Given the description of an element on the screen output the (x, y) to click on. 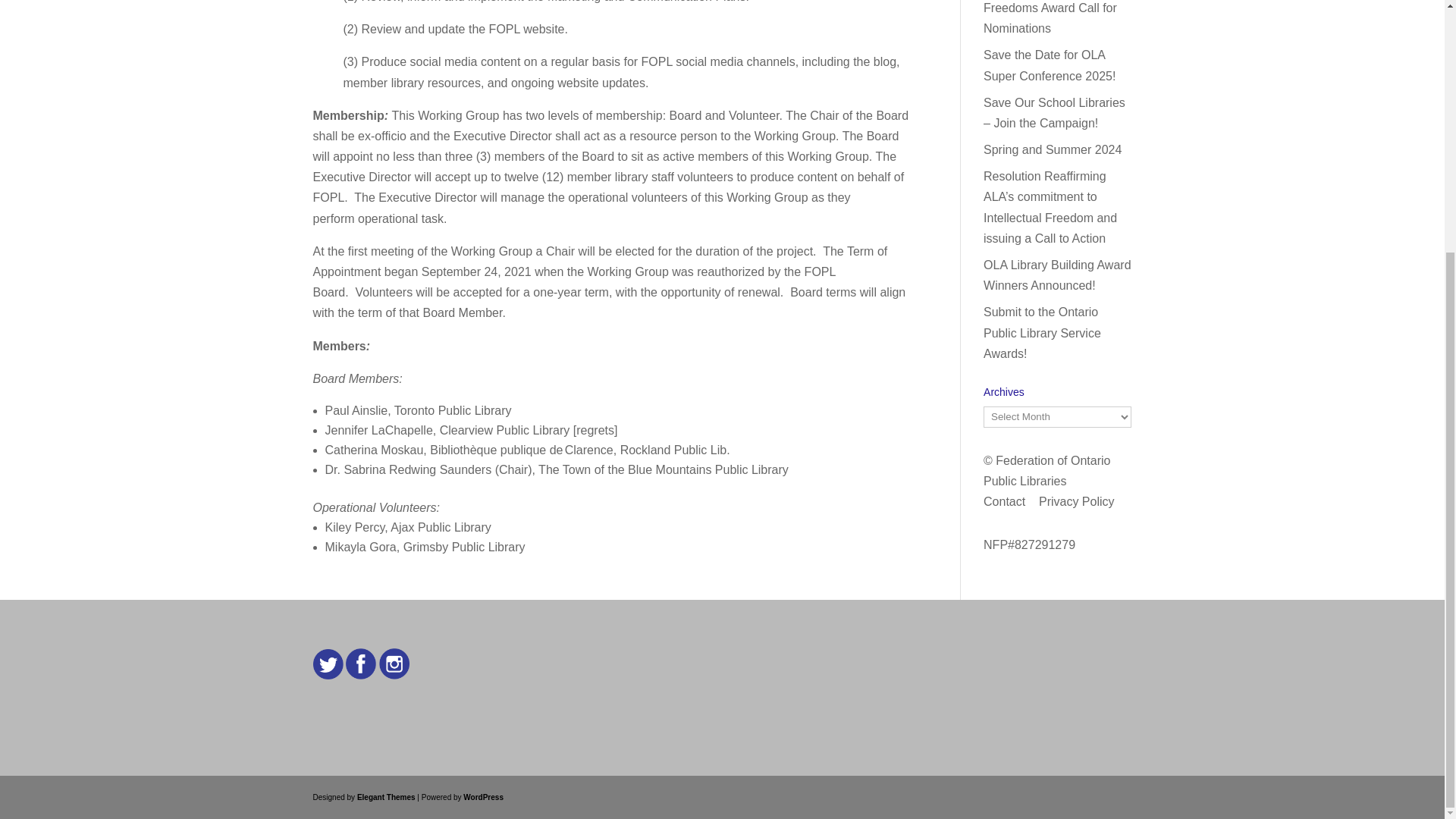
Contact (1004, 501)
Privacy Policy (1077, 501)
Premium WordPress Themes (385, 797)
